Given the description of an element on the screen output the (x, y) to click on. 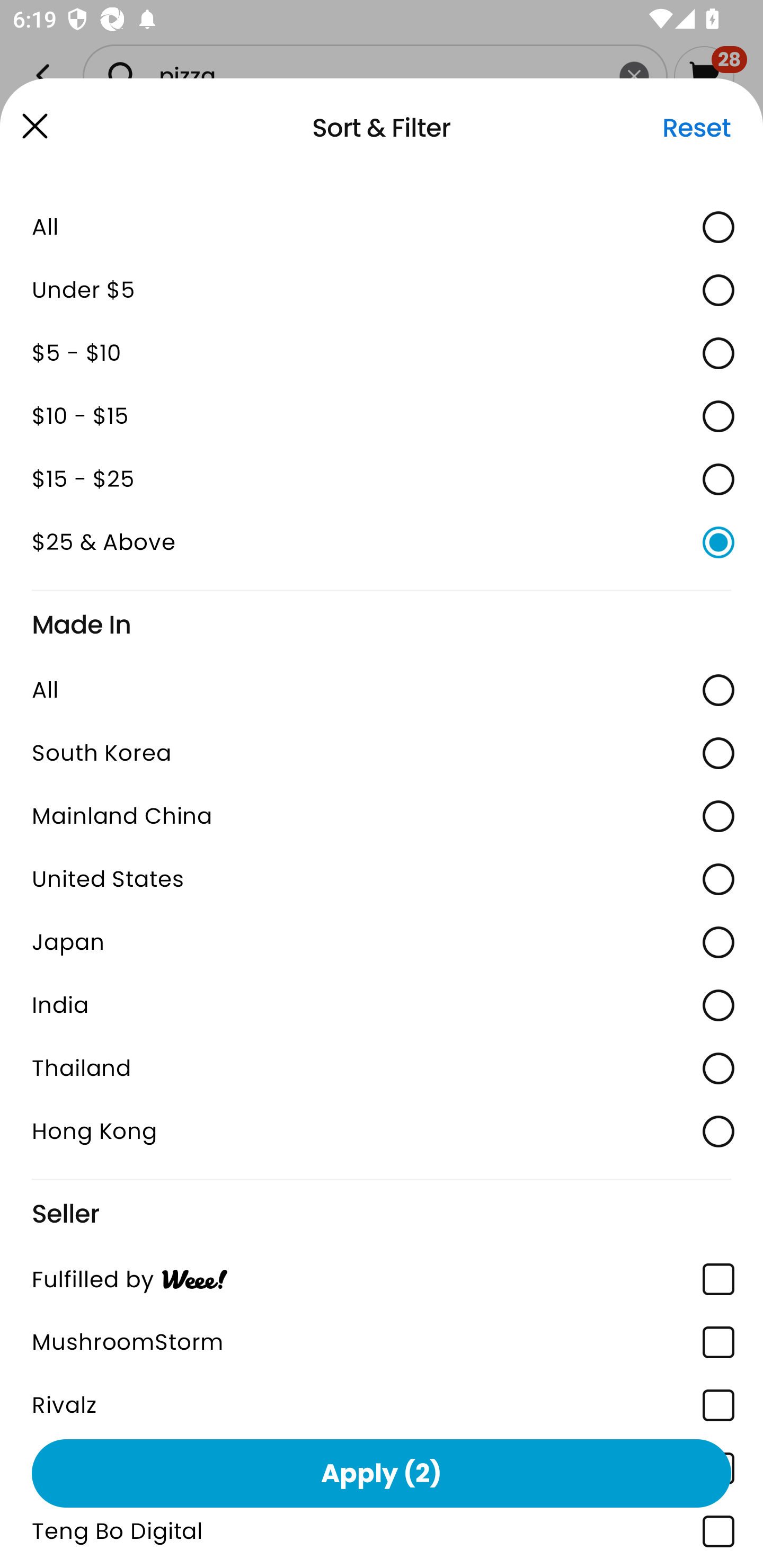
Reset (696, 127)
Apply (2) (381, 1472)
